Given the description of an element on the screen output the (x, y) to click on. 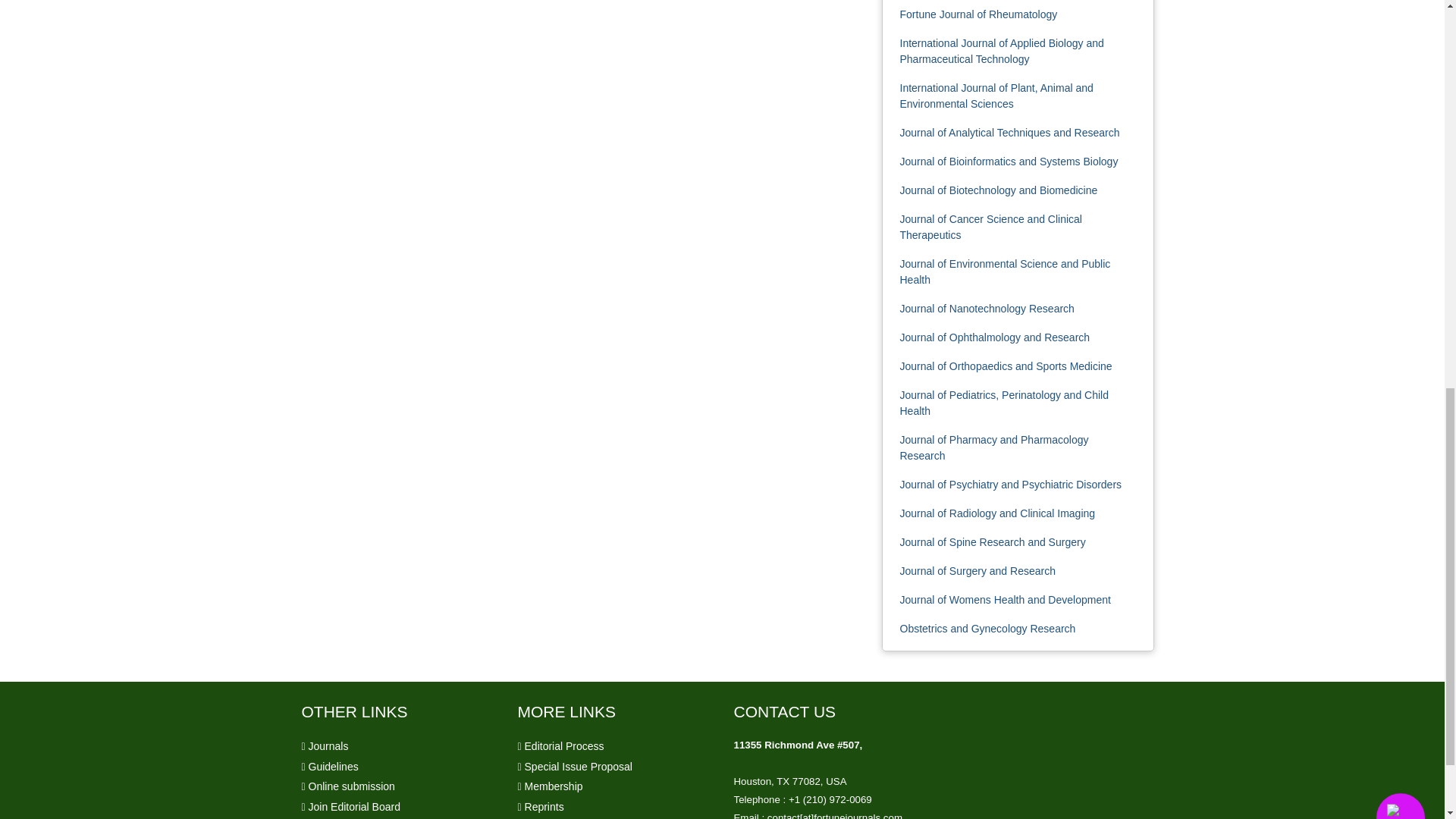
Journal of Ophthalmology and Research (994, 337)
Journal of Orthopaedics and Sports Medicine (1005, 366)
Journal of Analytical Techniques and Research (1009, 132)
Journal of Cancer Science and Clinical Therapeutics (990, 226)
Journal of Environmental Science and Public Health (1004, 271)
Fortune Journal of Rheumatology (978, 14)
Journal of Nanotechnology Research (986, 308)
Journal of Bioinformatics and Systems Biology (1008, 161)
